Given the description of an element on the screen output the (x, y) to click on. 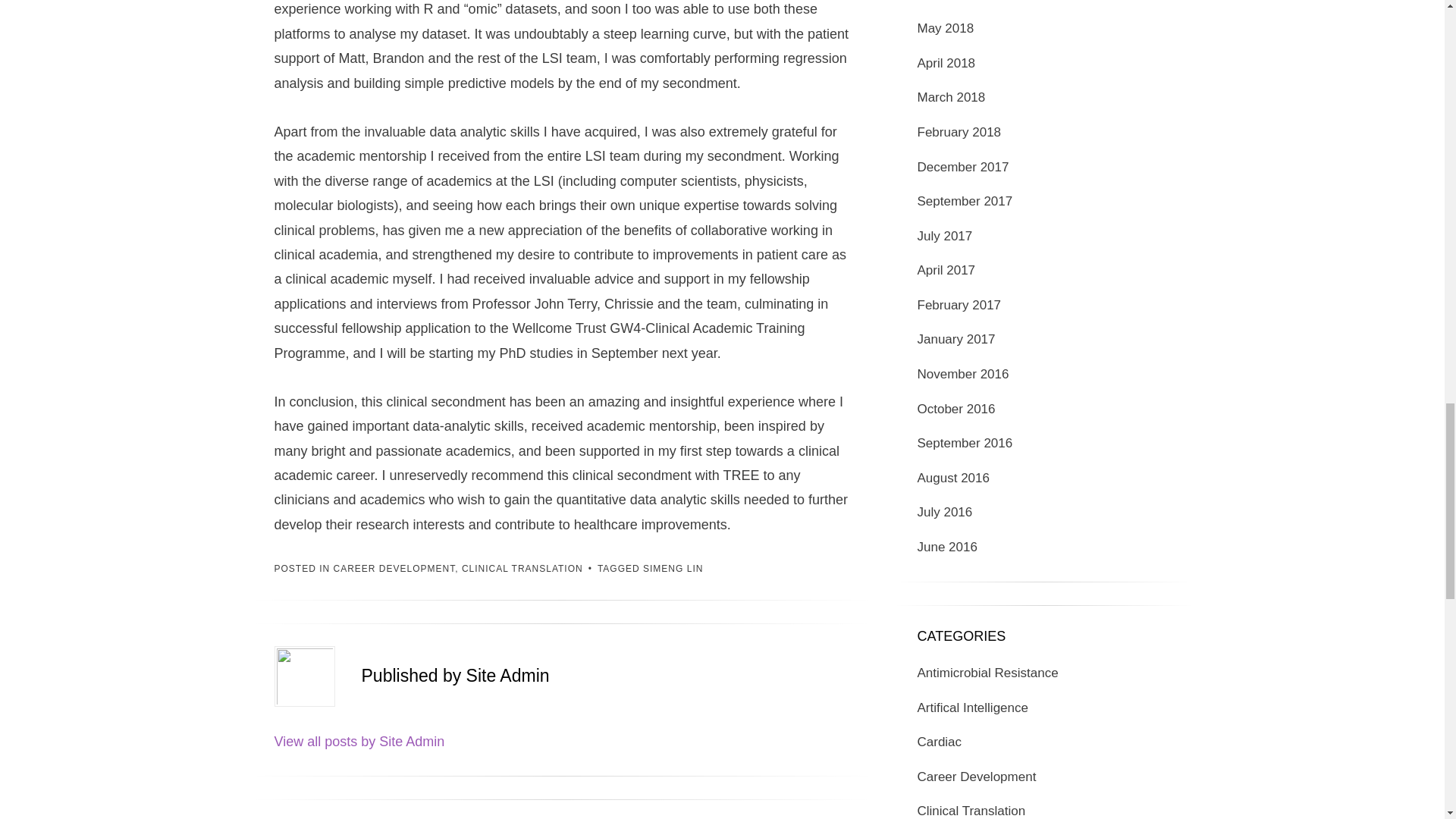
CLINICAL TRANSLATION (522, 568)
CAREER DEVELOPMENT (394, 568)
View all posts by Site Admin (360, 741)
SIMENG LIN (673, 568)
